Given the description of an element on the screen output the (x, y) to click on. 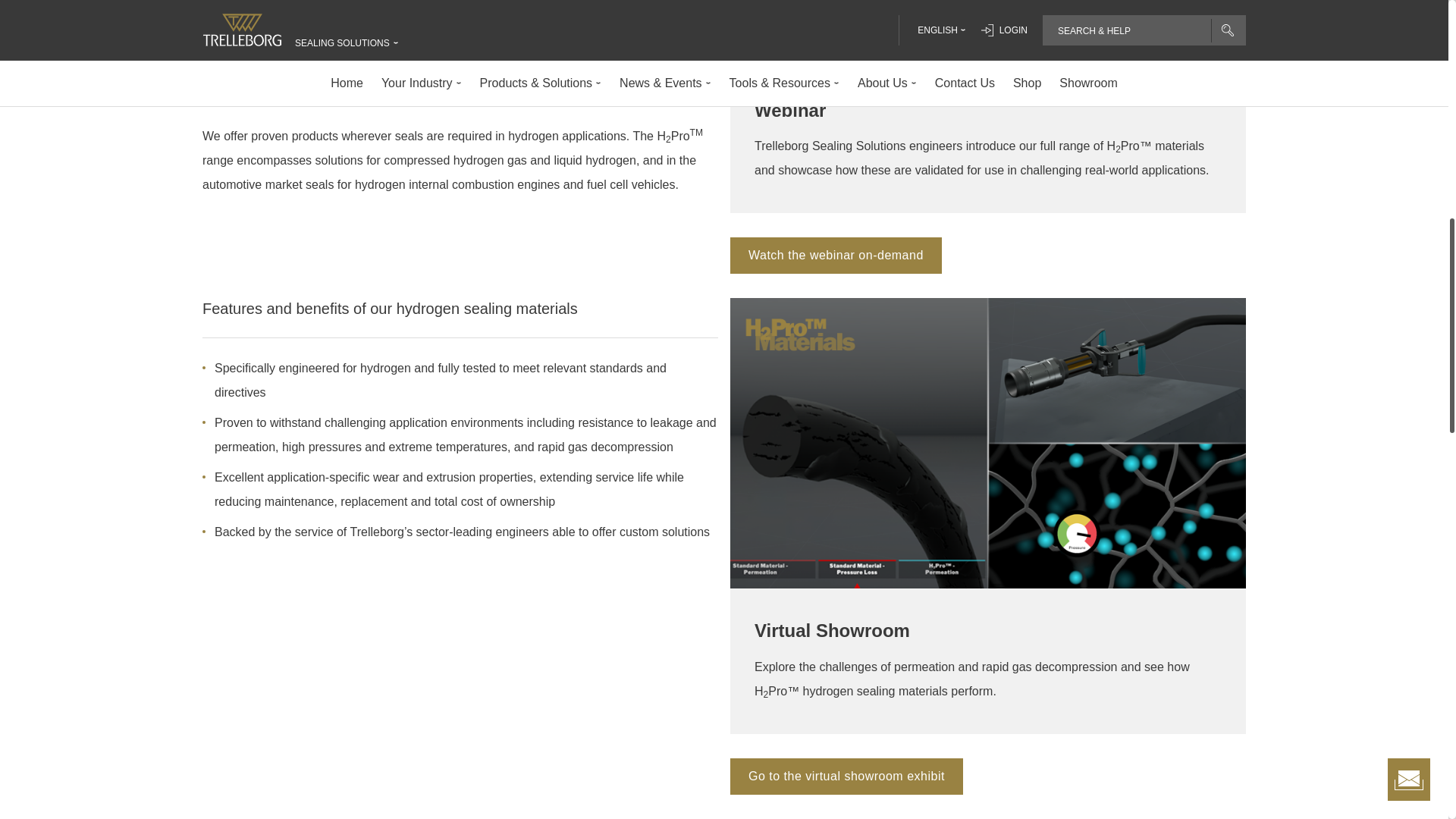
Register now (835, 254)
Go to the virtual showroom exhibit (846, 775)
